Given the description of an element on the screen output the (x, y) to click on. 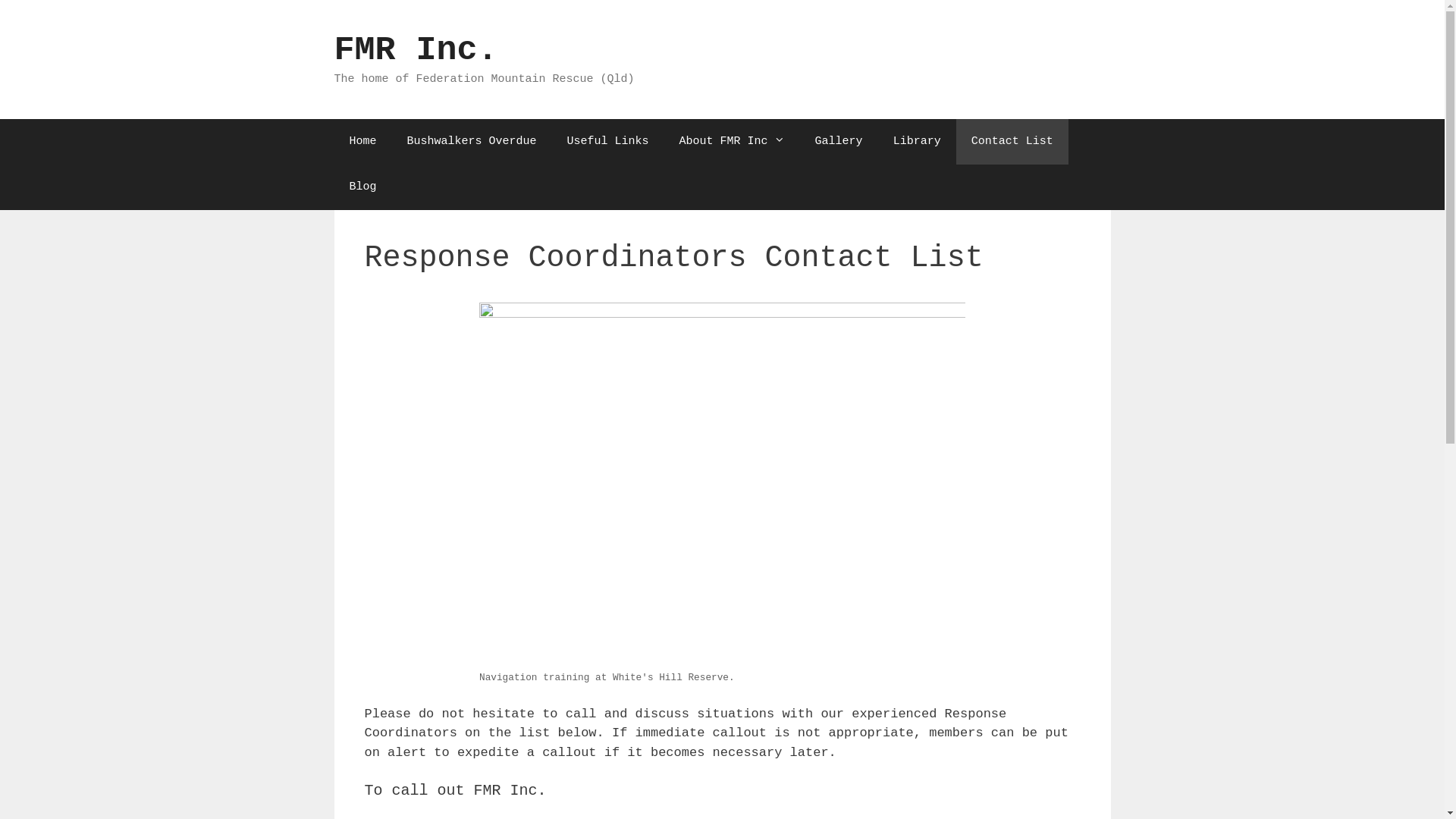
About FMR Inc Element type: text (732, 140)
Contact List Element type: text (1012, 140)
Home Element type: text (362, 140)
Blog Element type: text (362, 186)
Useful Links Element type: text (608, 140)
Library Element type: text (917, 140)
FMR Inc. Element type: text (415, 50)
Gallery Element type: text (839, 140)
Bushwalkers Overdue Element type: text (472, 140)
